Given the description of an element on the screen output the (x, y) to click on. 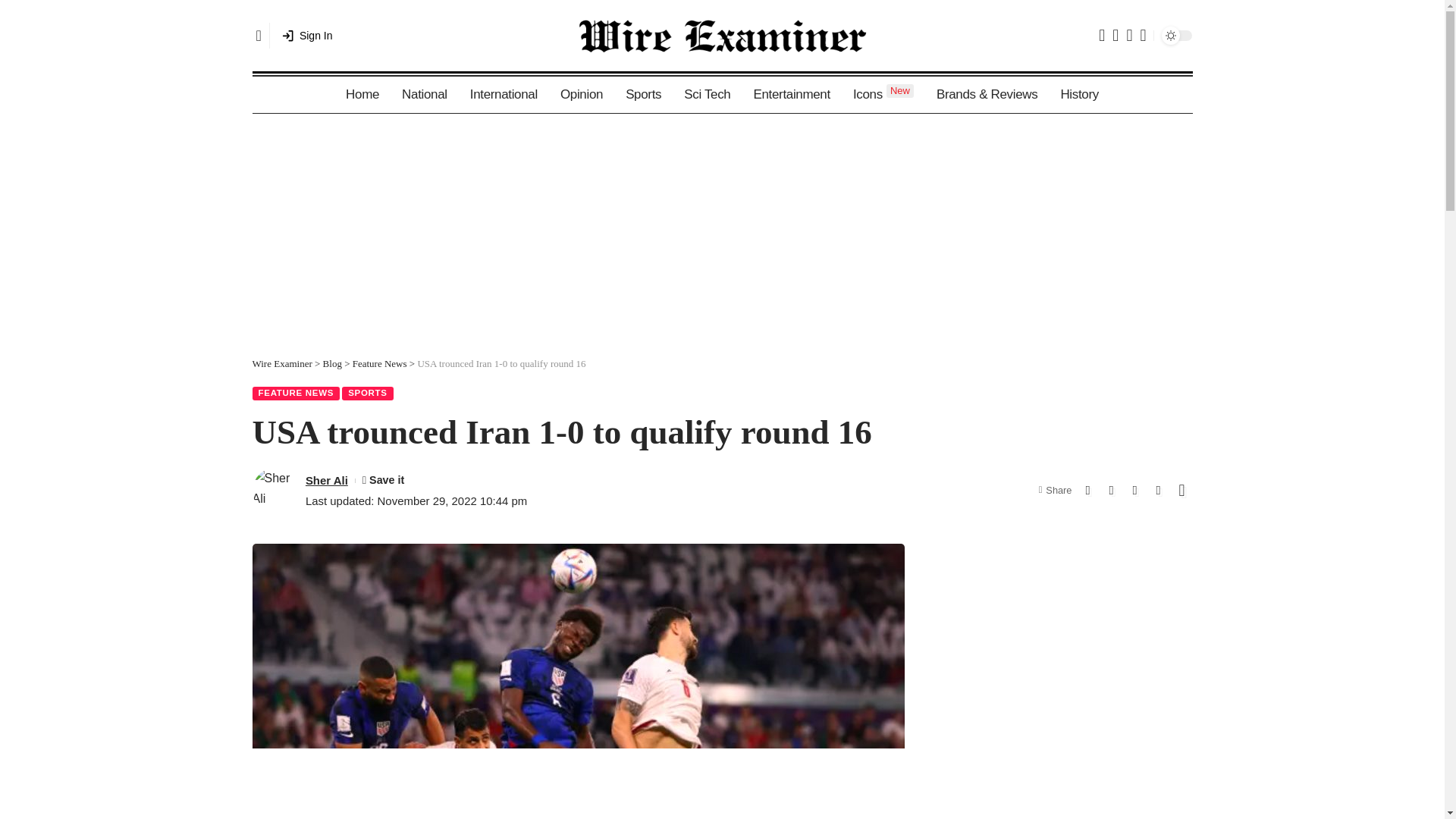
International (882, 94)
Entertainment (503, 94)
History (791, 94)
Sports (1078, 94)
Go to the Feature News Category archives. (643, 94)
Home (379, 363)
Opinion (362, 94)
National (581, 94)
Sign In (424, 94)
